Given the description of an element on the screen output the (x, y) to click on. 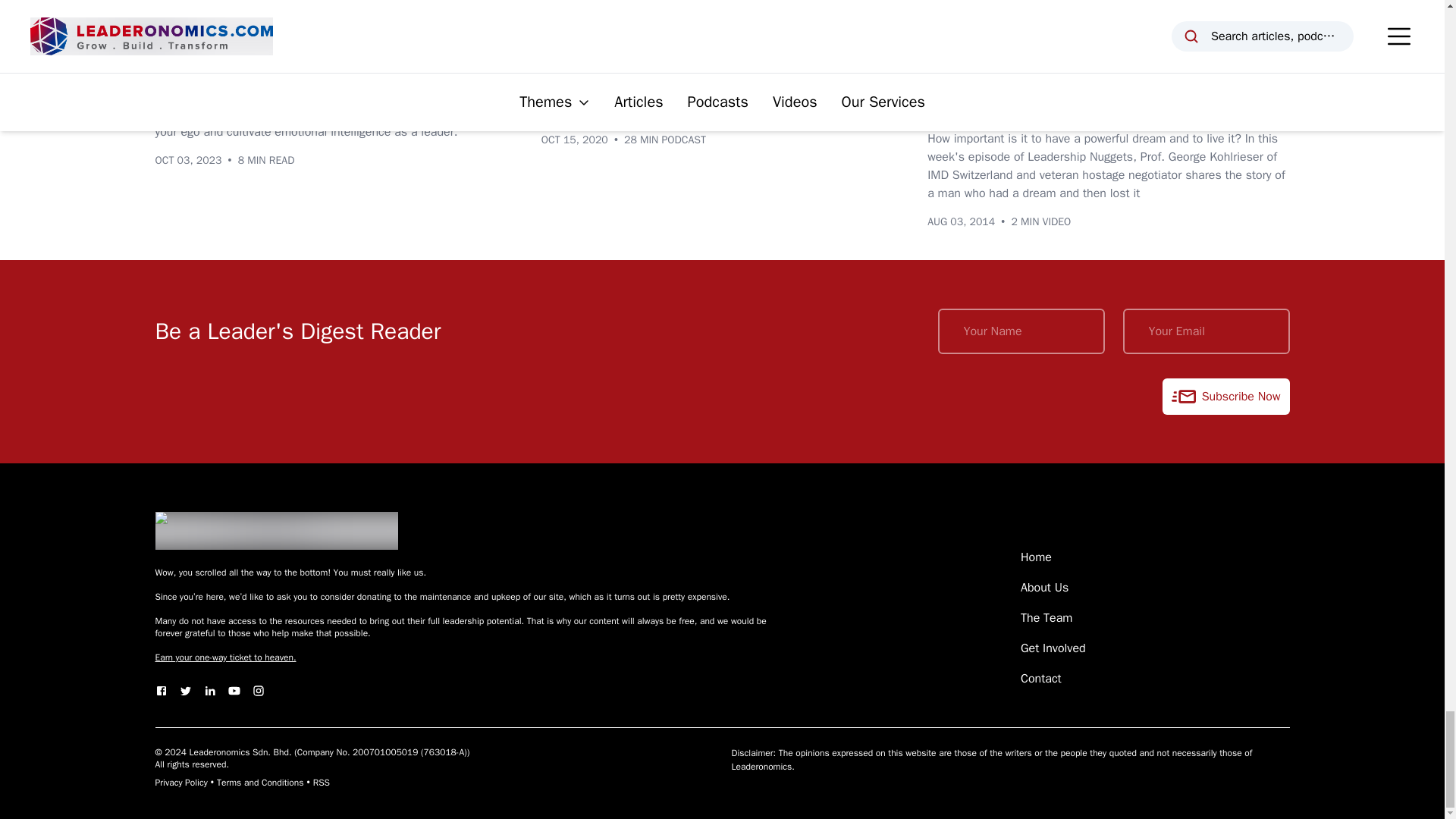
Podcast (572, 49)
Article (181, 49)
Leadership, Habits and Ego (264, 82)
Leadership (253, 49)
